Given the description of an element on the screen output the (x, y) to click on. 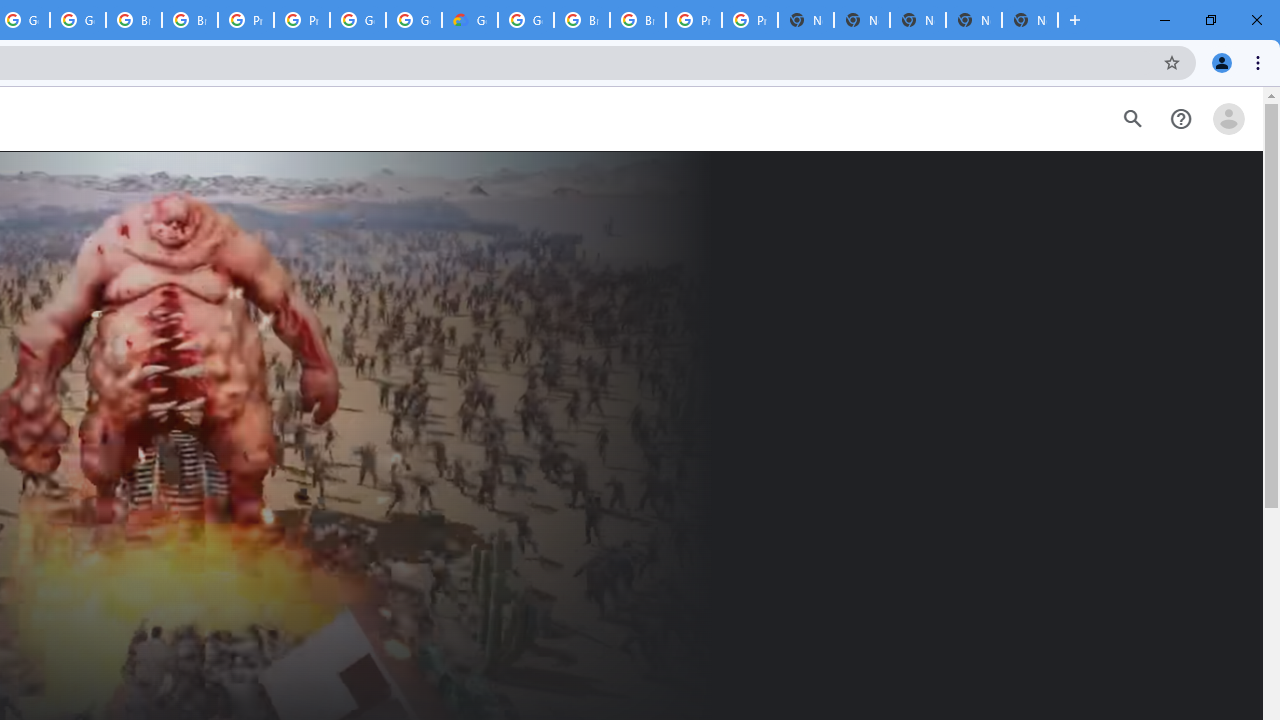
New Tab (1030, 20)
Google Cloud Platform (413, 20)
Google Cloud Platform (525, 20)
